Given the description of an element on the screen output the (x, y) to click on. 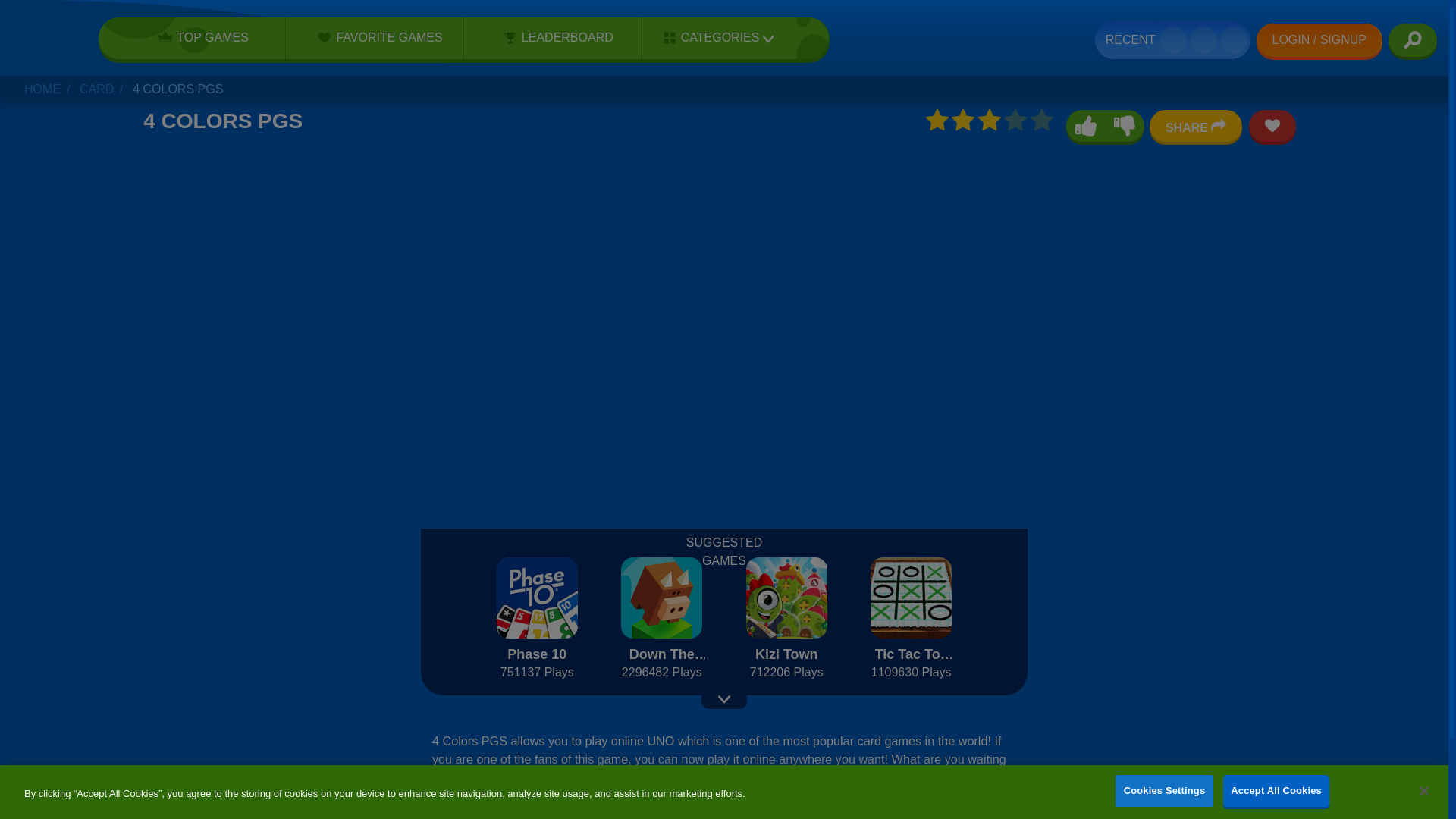
FAVORITE GAMES (374, 37)
TOP GAMES (197, 37)
LEADERBOARD (553, 37)
CATEGORIES (712, 38)
